Given the description of an element on the screen output the (x, y) to click on. 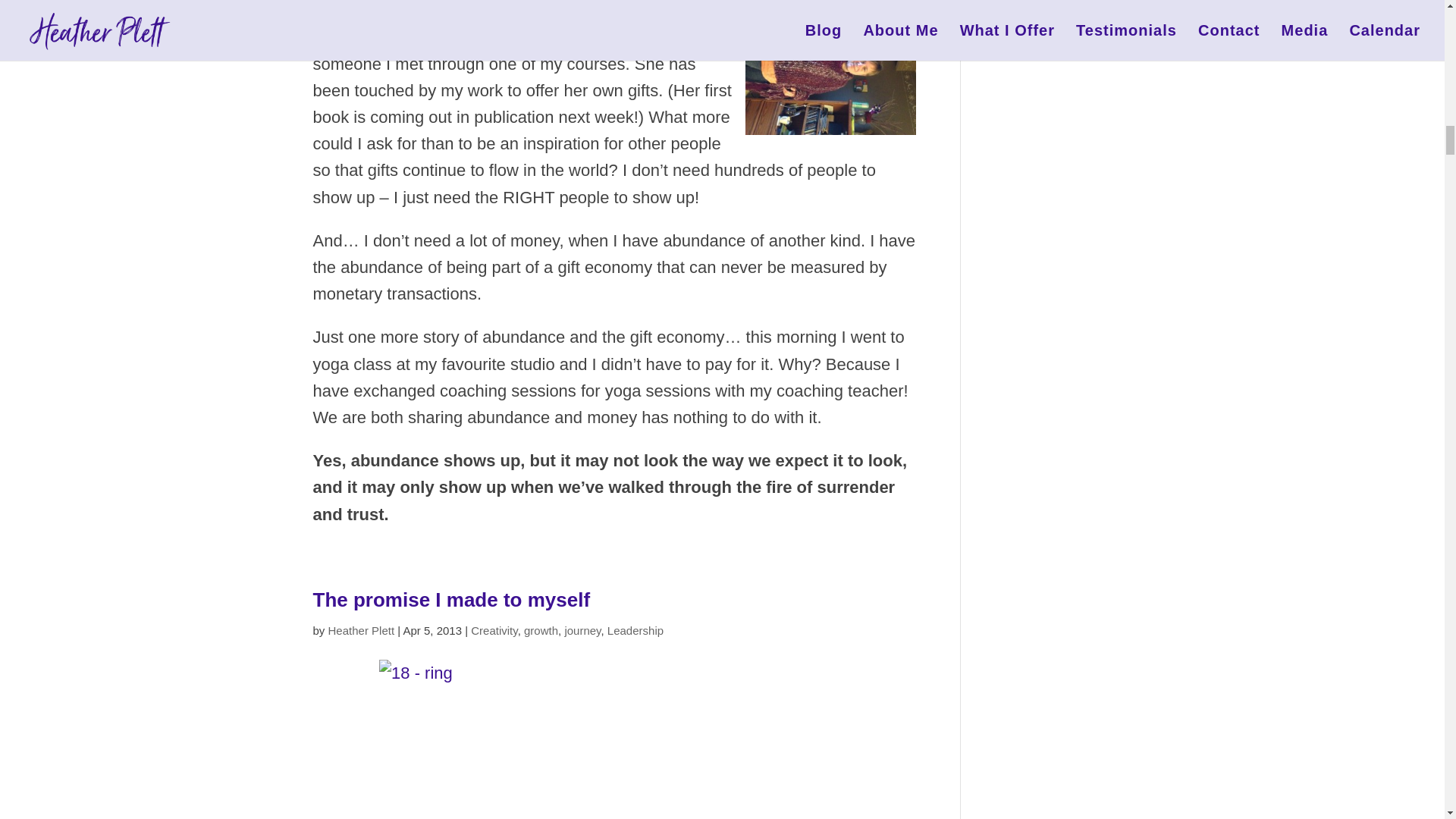
Posts by Heather Plett (361, 630)
growth (540, 630)
journey (581, 630)
Heather Plett (361, 630)
Creativity (493, 630)
The promise I made to myself (451, 599)
Leadership (635, 630)
